Given the description of an element on the screen output the (x, y) to click on. 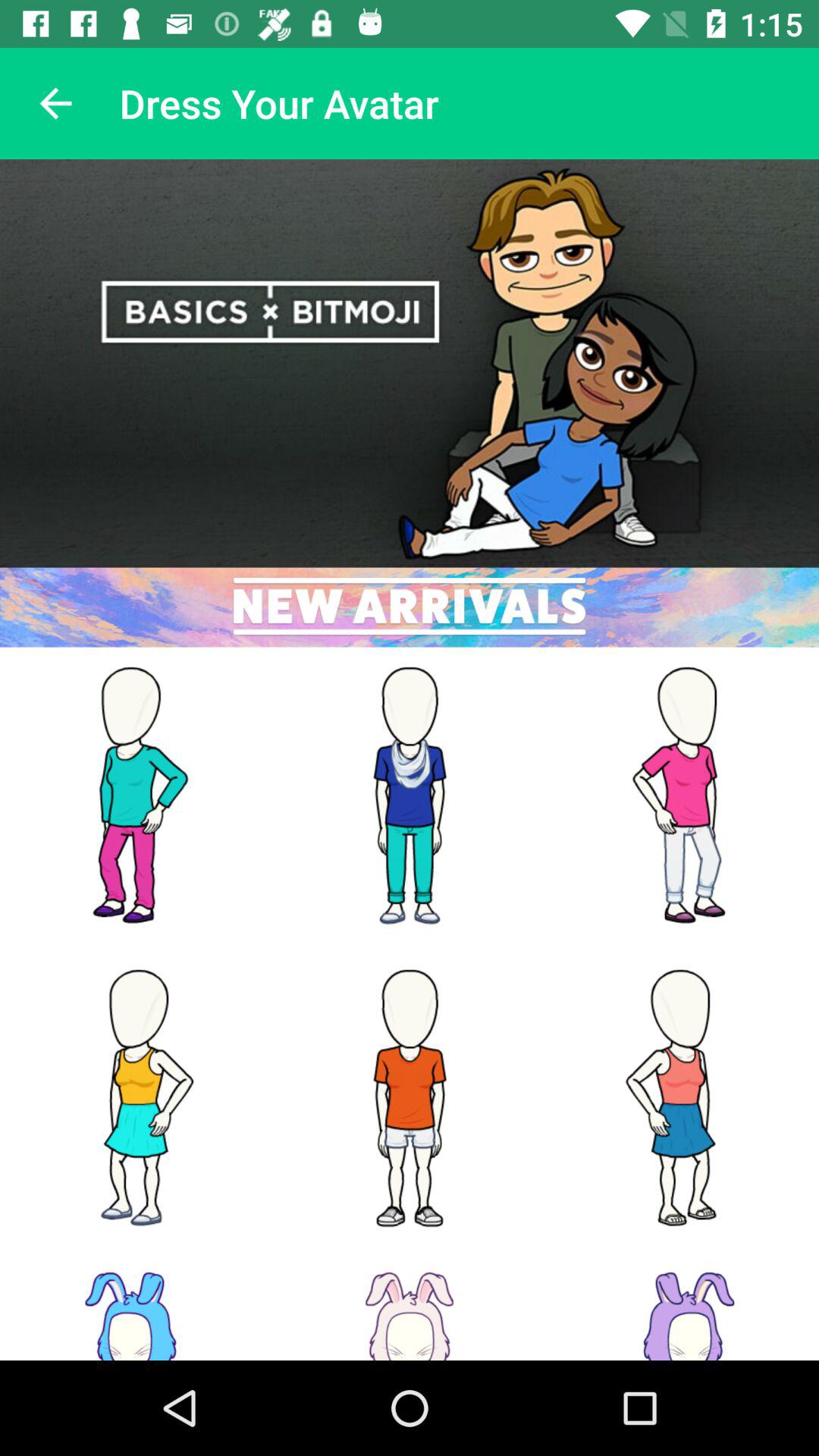
choose the item to the left of dress your avatar app (55, 103)
